Given the description of an element on the screen output the (x, y) to click on. 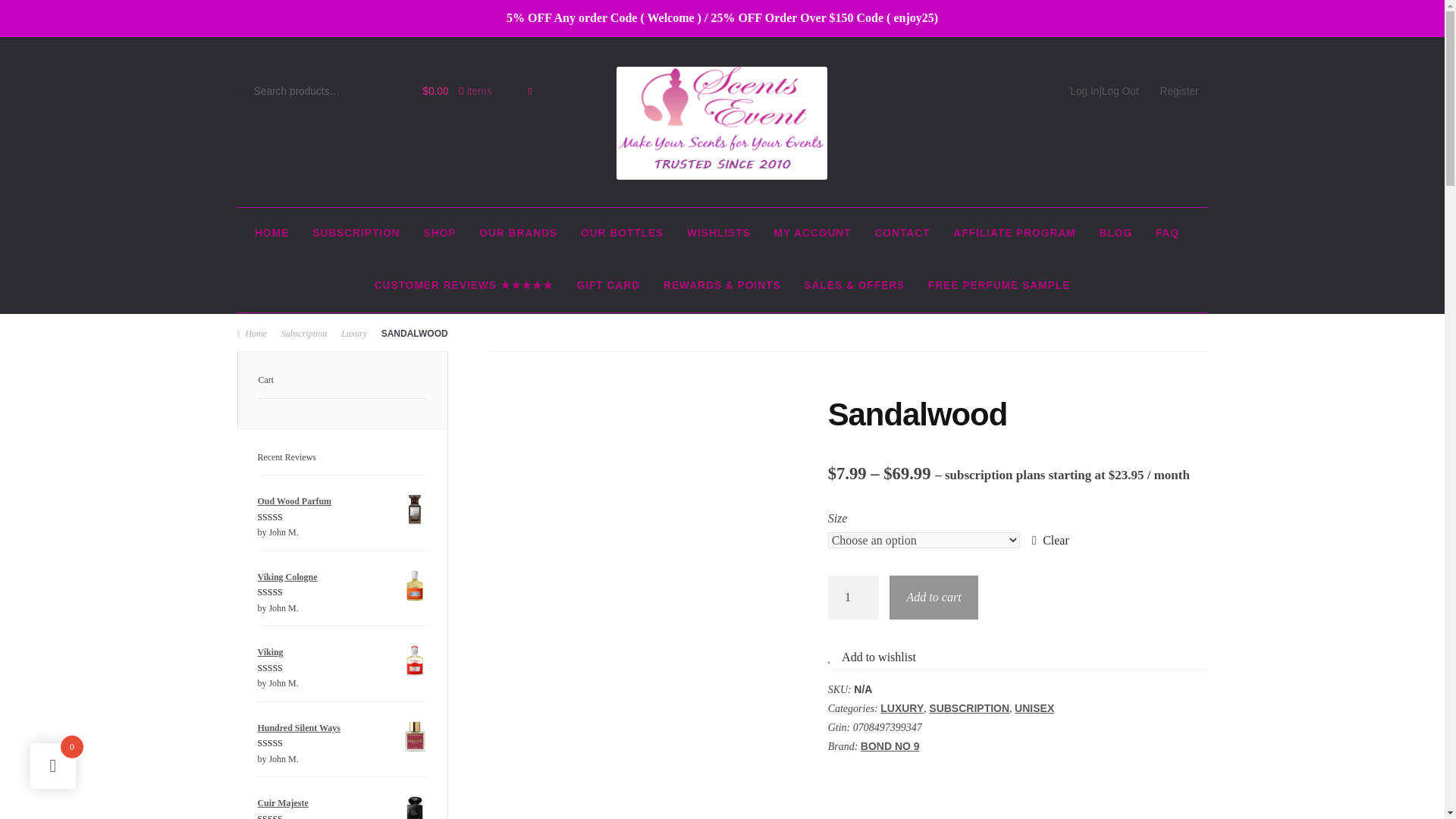
1 (853, 597)
Qty (853, 597)
GIFT CARD (608, 286)
SUBSCRIPTION (355, 233)
BLOG (1115, 233)
OUR BRANDS (517, 233)
MY ACCOUNT (811, 233)
Search (266, 96)
OUR BOTTLES (622, 233)
Register (1179, 91)
CONTACT (902, 233)
AFFILIATE PROGRAM (1014, 233)
WISHLISTS (718, 233)
HOME (271, 233)
